Given the description of an element on the screen output the (x, y) to click on. 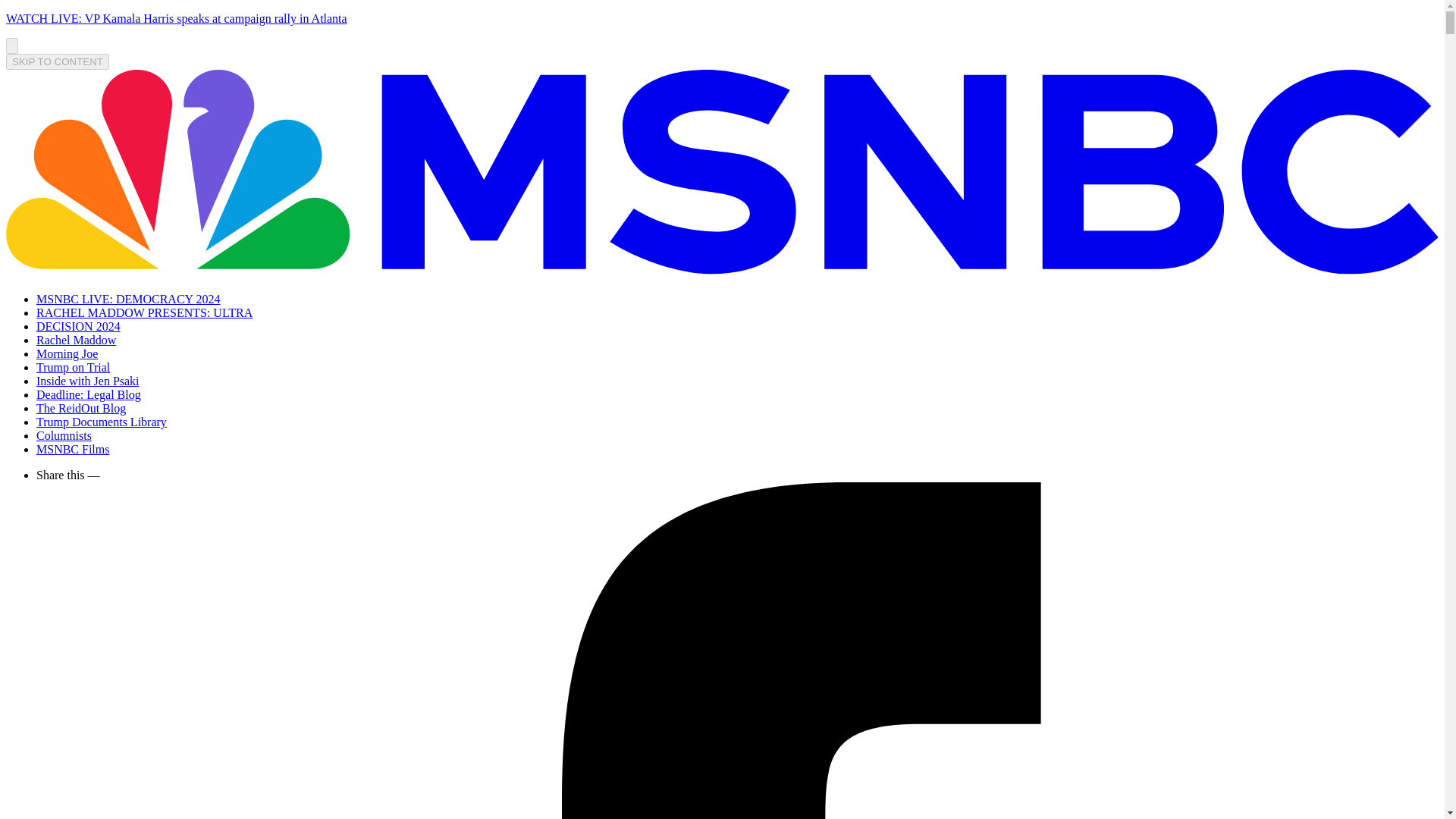
MSNBC LIVE: DEMOCRACY 2024 (128, 298)
Deadline: Legal Blog (88, 394)
Inside with Jen Psaki (87, 380)
Trump Documents Library (101, 421)
Morning Joe (66, 353)
The ReidOut Blog (80, 408)
Rachel Maddow (76, 339)
Trump on Trial (73, 367)
RACHEL MADDOW PRESENTS: ULTRA (143, 312)
SKIP TO CONTENT (57, 61)
DECISION 2024 (78, 326)
MSNBC Films (72, 449)
Columnists (63, 435)
